Given the description of an element on the screen output the (x, y) to click on. 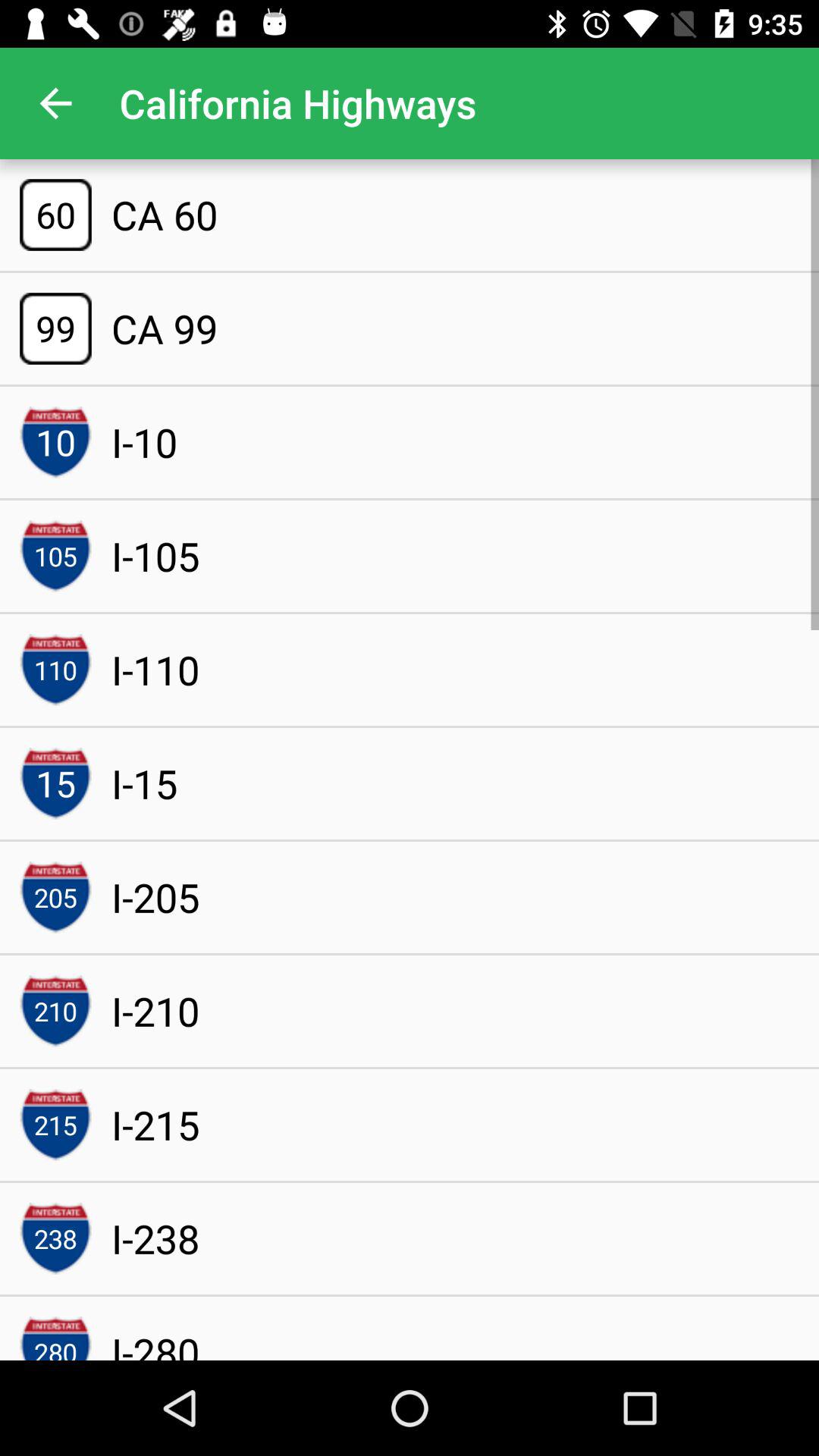
tap the item below the i-110 item (144, 783)
